Given the description of an element on the screen output the (x, y) to click on. 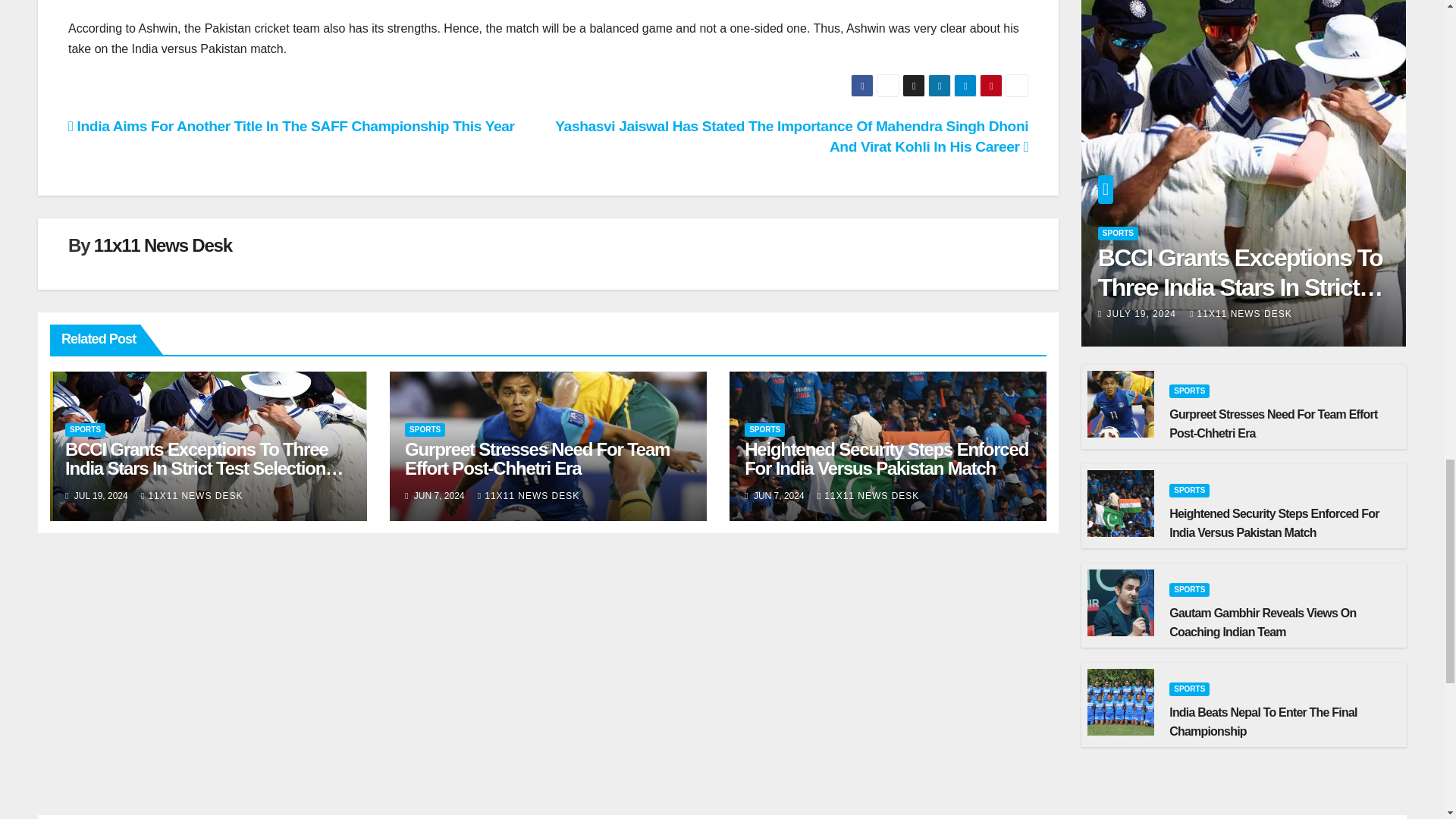
11x11 News Desk (162, 245)
SPORTS (84, 429)
